Given the description of an element on the screen output the (x, y) to click on. 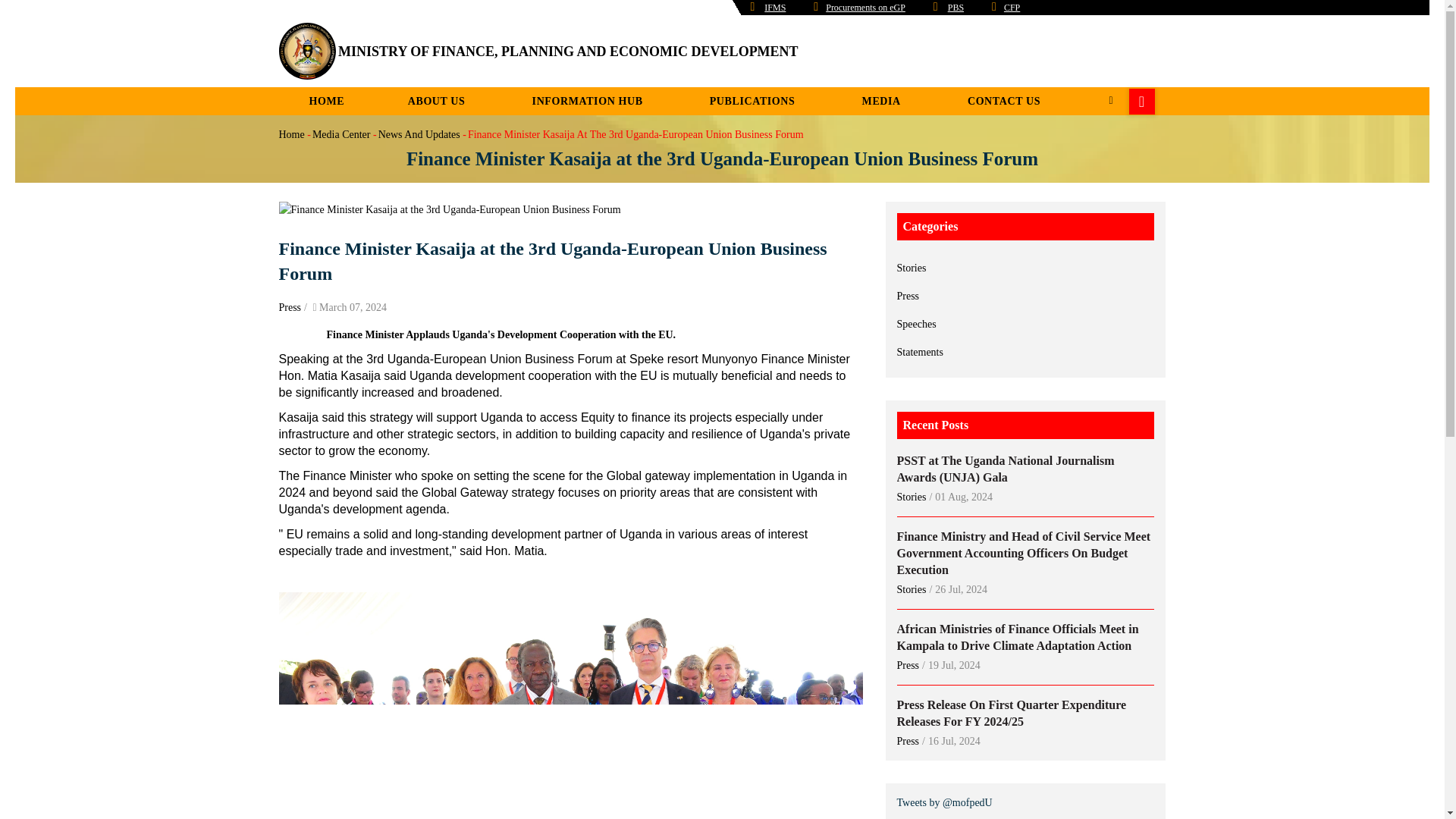
IFMS (775, 7)
INFORMATION HUB (589, 100)
MINISTRY OF FINANCE, PLANNING AND ECONOMIC DEVELOPMENT (567, 51)
Home (307, 50)
Procurements on eGP (865, 7)
PBS (955, 7)
ABOUT US (438, 100)
Home (567, 51)
HOME (327, 100)
CFP (1012, 7)
